Given the description of an element on the screen output the (x, y) to click on. 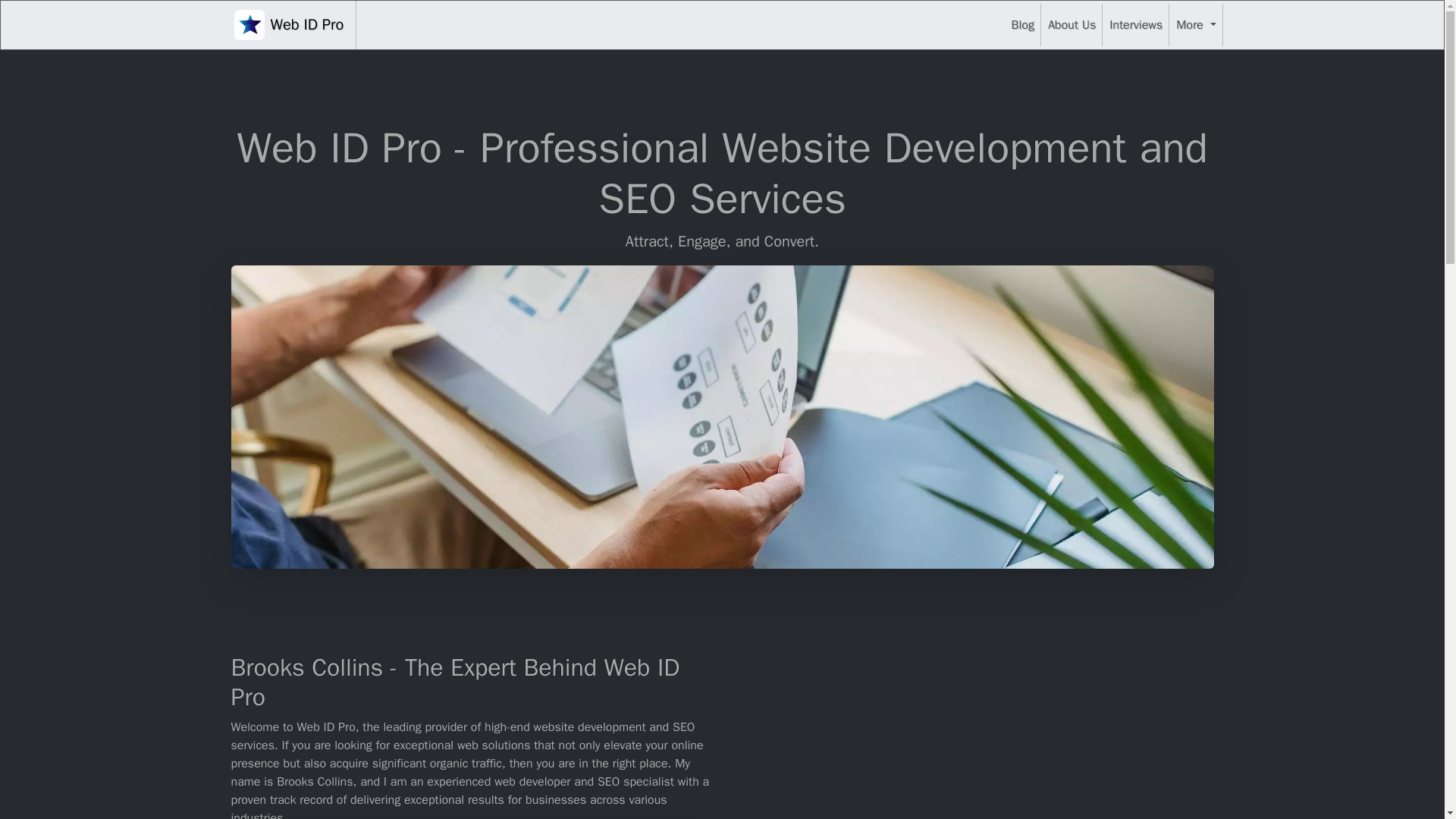
Web ID Pro (288, 24)
More (1196, 24)
Interviews (1135, 24)
About Us (1071, 24)
